Given the description of an element on the screen output the (x, y) to click on. 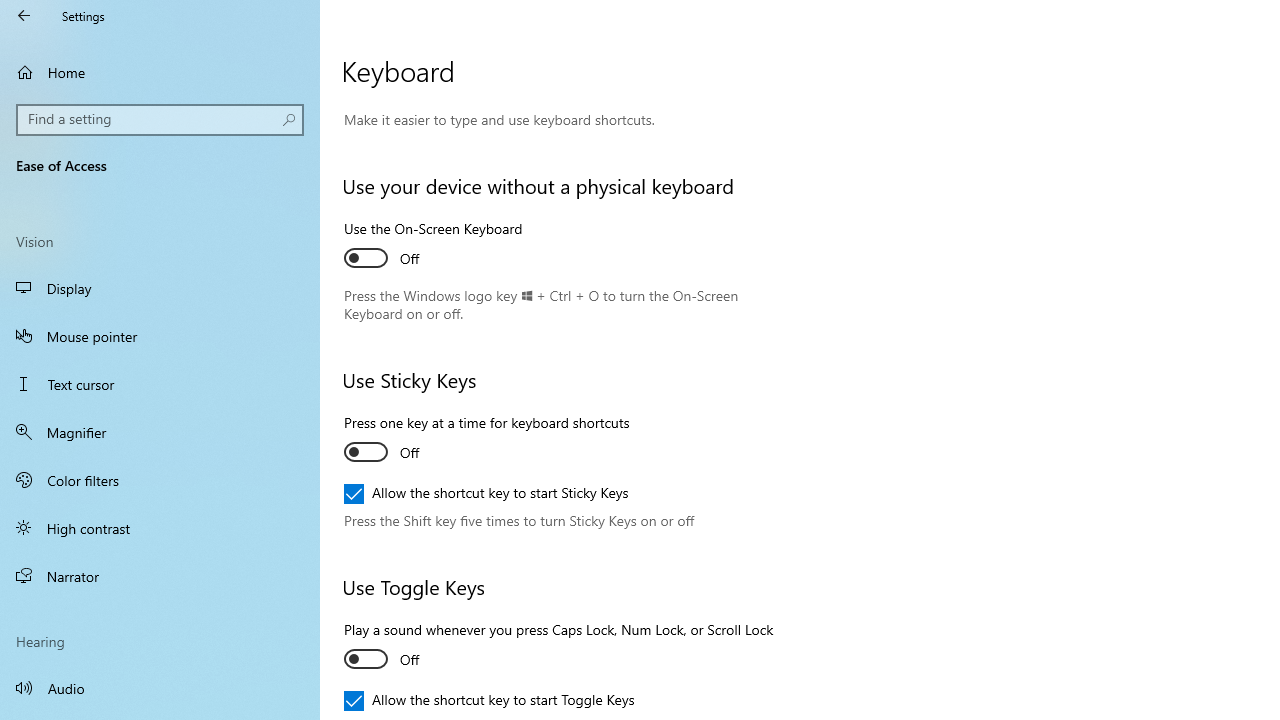
Search box, Find a setting (160, 119)
Use the On-Screen Keyboard (433, 246)
Back (24, 15)
Home (160, 71)
Mouse pointer (160, 335)
Display (160, 287)
Magnifier (160, 431)
Text cursor (160, 384)
Allow the shortcut key to start Sticky Keys (486, 493)
Narrator (160, 575)
Audio (160, 687)
High contrast (160, 527)
Color filters (160, 479)
Press one key at a time for keyboard shortcuts (486, 440)
